Given the description of an element on the screen output the (x, y) to click on. 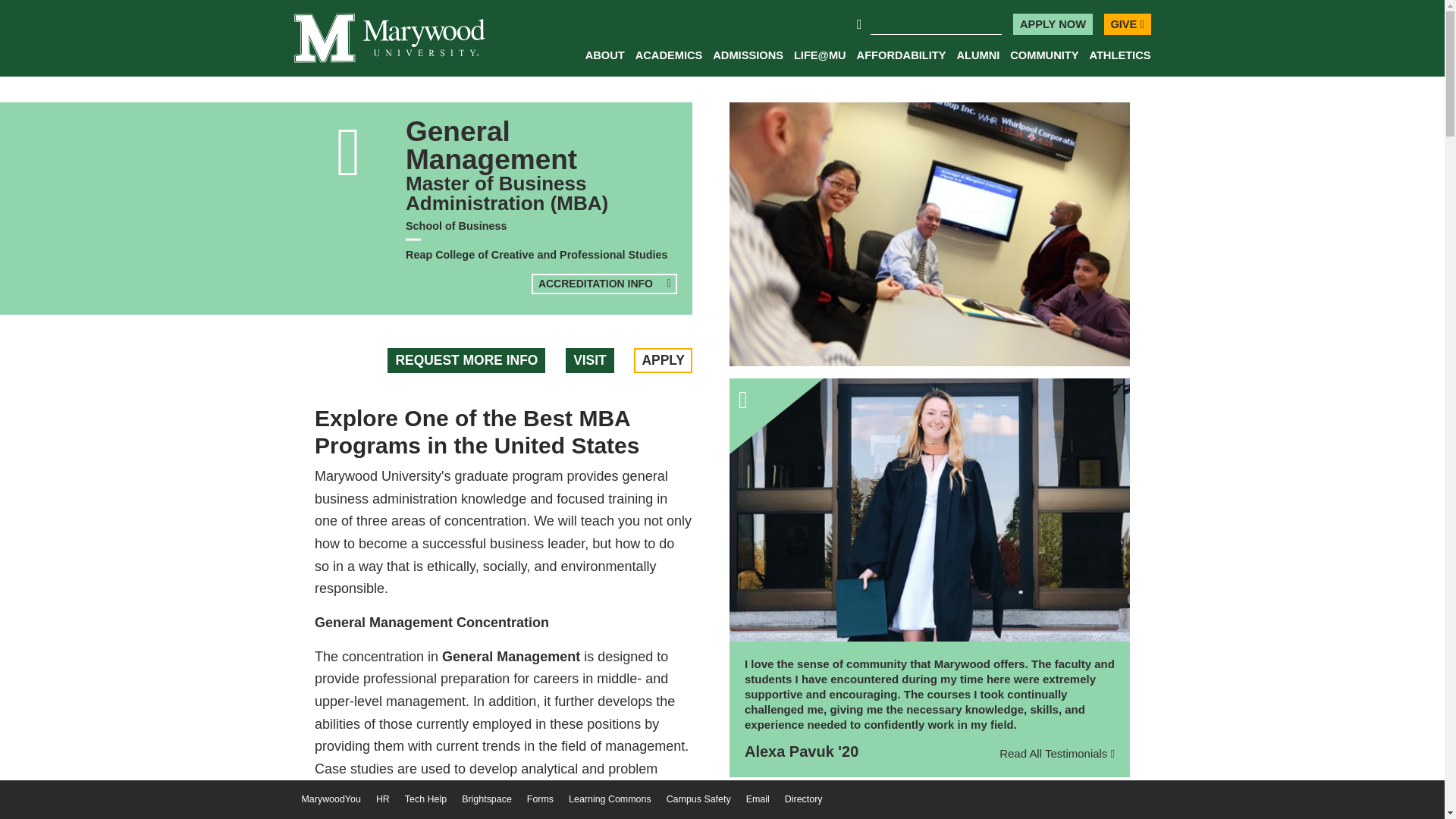
ACADEMICS (668, 60)
Marywood University (353, 529)
ABOUT (604, 60)
APPLY NOW (1052, 24)
Marywood University (389, 38)
ADMISSIONS (748, 60)
